Given the description of an element on the screen output the (x, y) to click on. 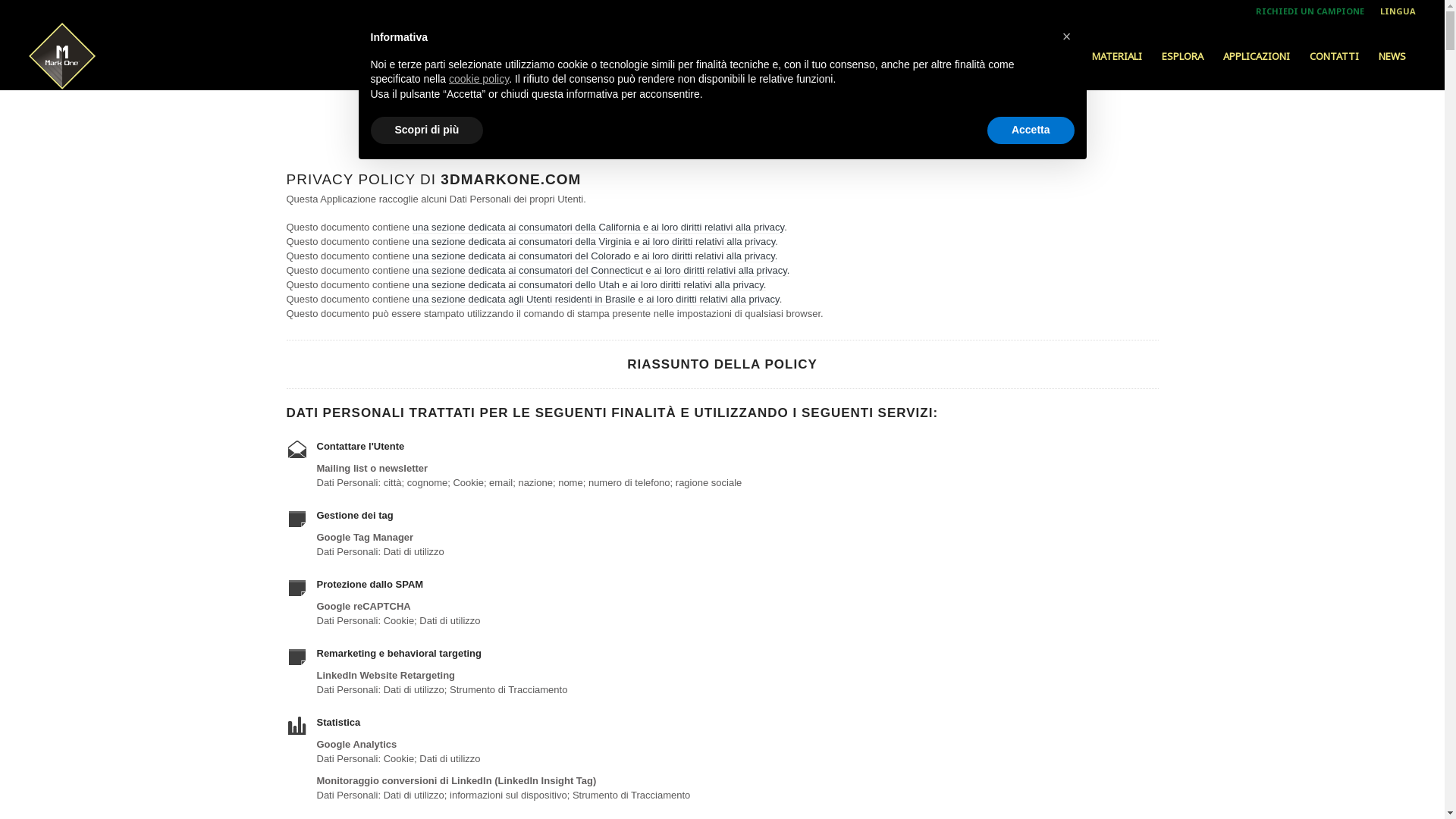
Accetta Element type: text (1030, 130)
NEWS Element type: text (1391, 55)
MATERIALI Element type: text (1116, 55)
cookie policy Element type: text (478, 78)
CONTATTI Element type: text (1333, 55)
LINGUA Element type: text (1397, 10)
APPLICAZIONI Element type: text (1256, 55)
ESPLORA Element type: text (1182, 55)
CHI SIAMO Element type: text (971, 55)
STAMPANTI Element type: text (1044, 55)
RICHIEDI UN CAMPIONE Element type: text (1309, 10)
